Given the description of an element on the screen output the (x, y) to click on. 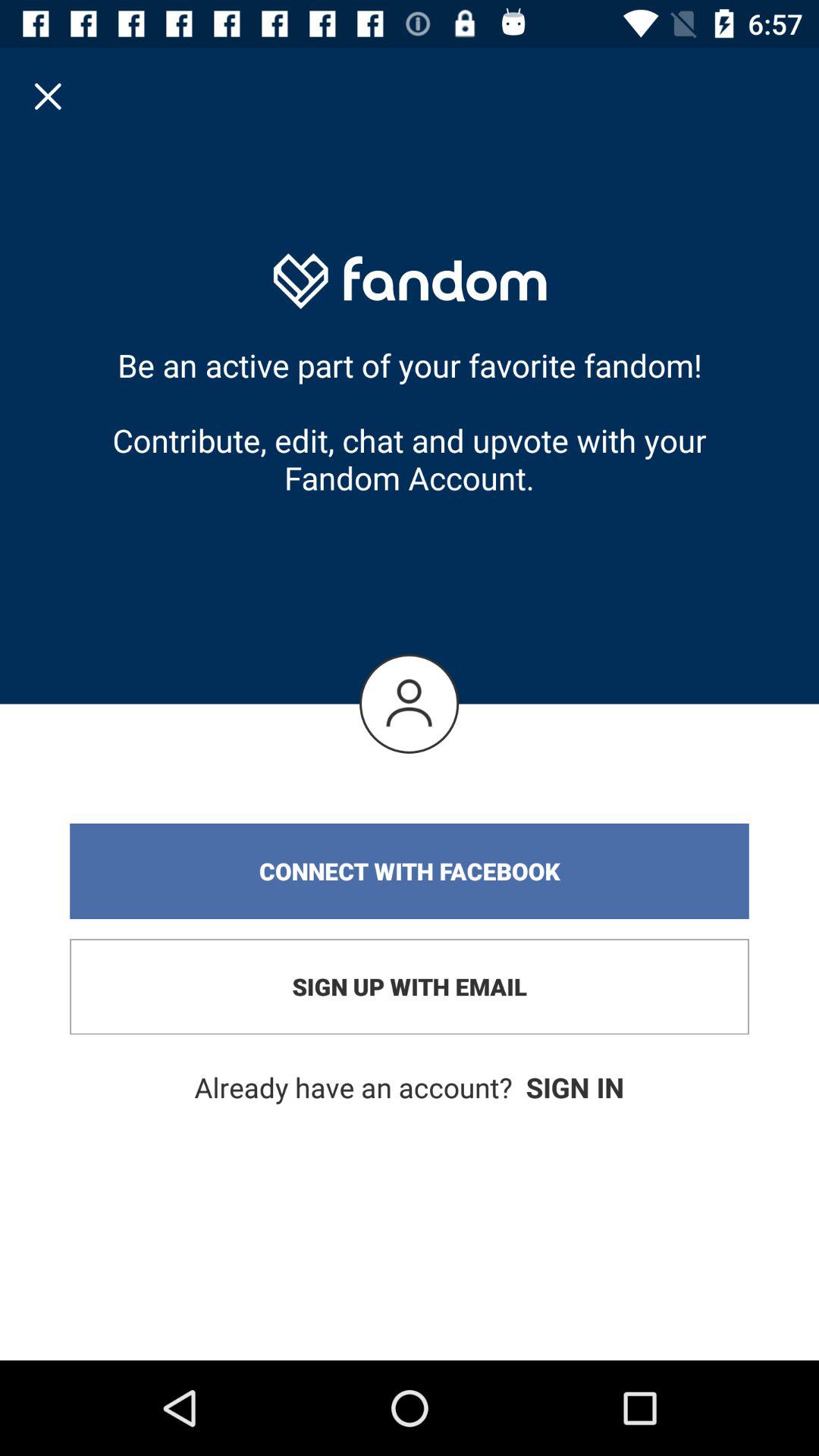
turn on the item below connect with facebook item (409, 986)
